Given the description of an element on the screen output the (x, y) to click on. 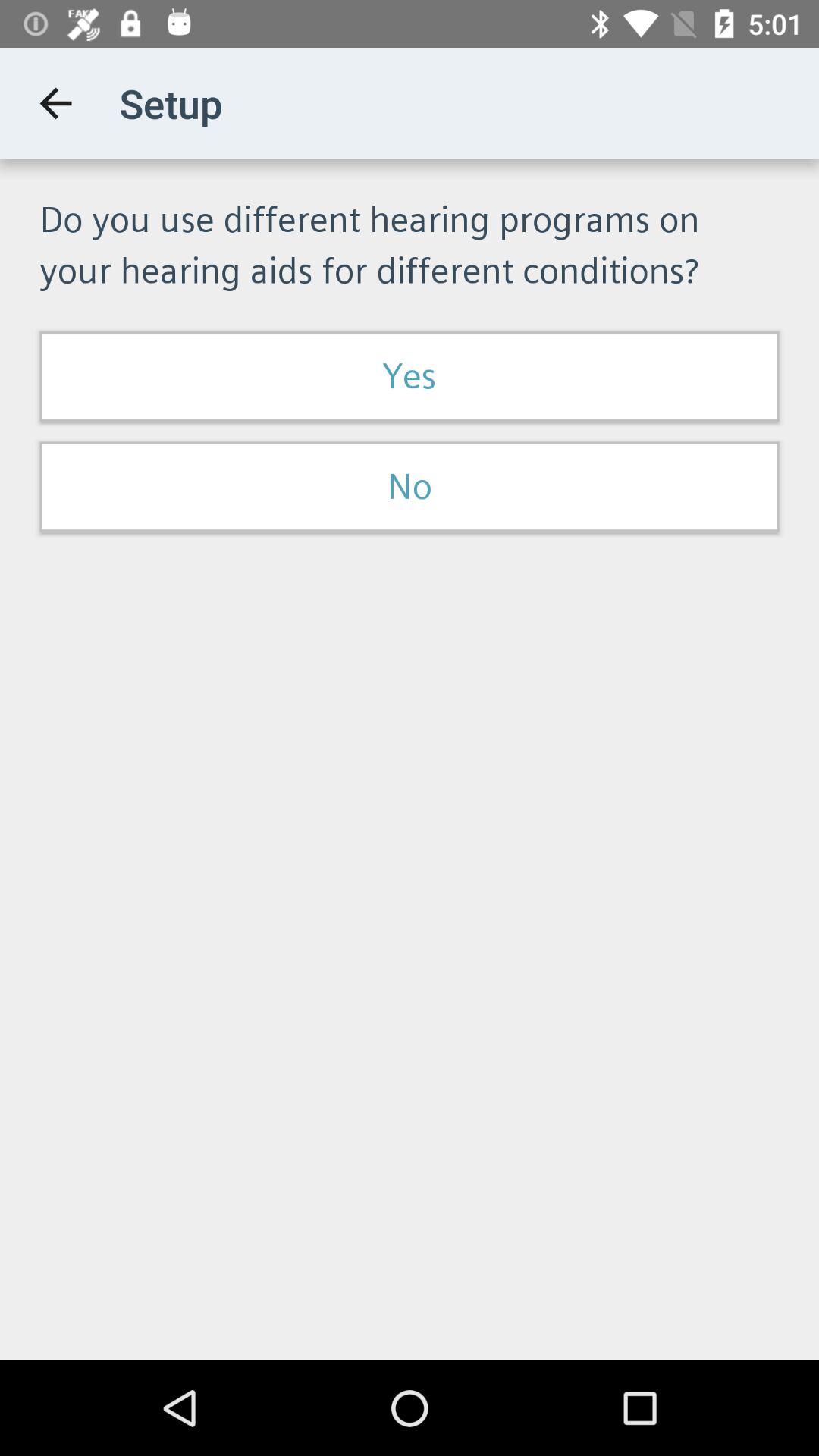
tap the yes item (409, 376)
